Given the description of an element on the screen output the (x, y) to click on. 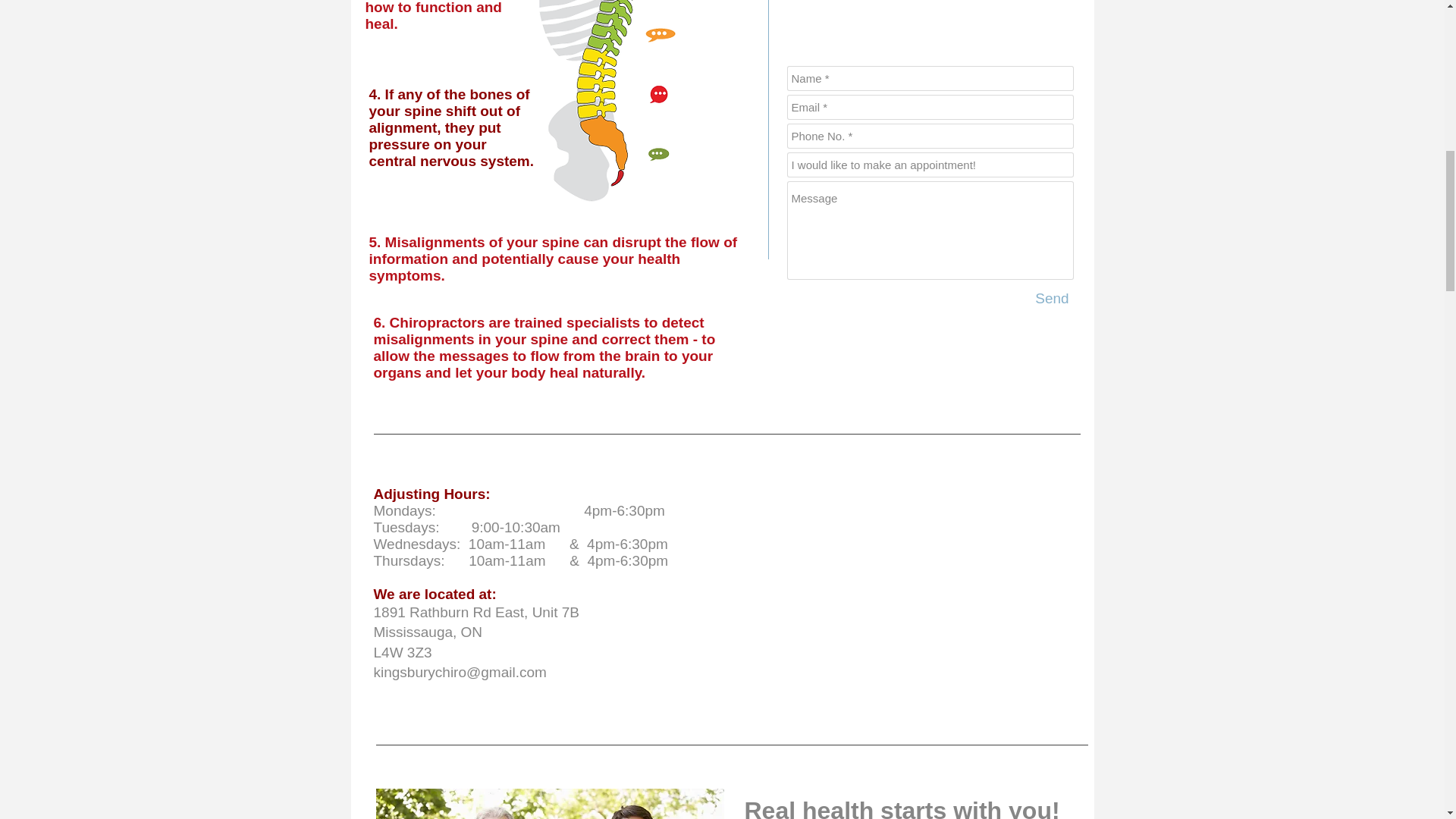
Send (1052, 298)
